Given the description of an element on the screen output the (x, y) to click on. 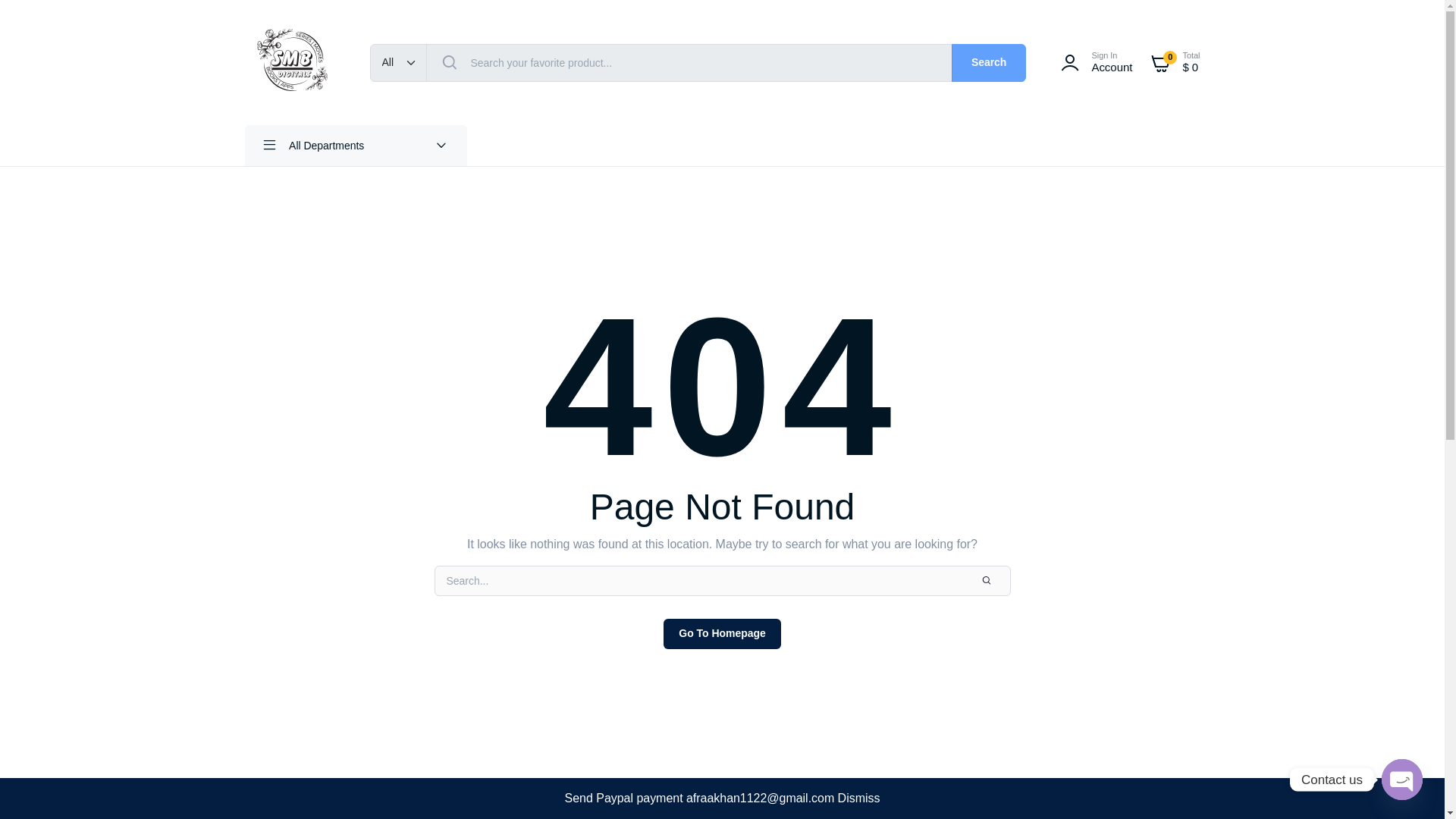
Search (989, 62)
Dismiss (859, 797)
Go To Homepage (1094, 62)
SMBDigitals (721, 634)
All Departments (291, 62)
